Given the description of an element on the screen output the (x, y) to click on. 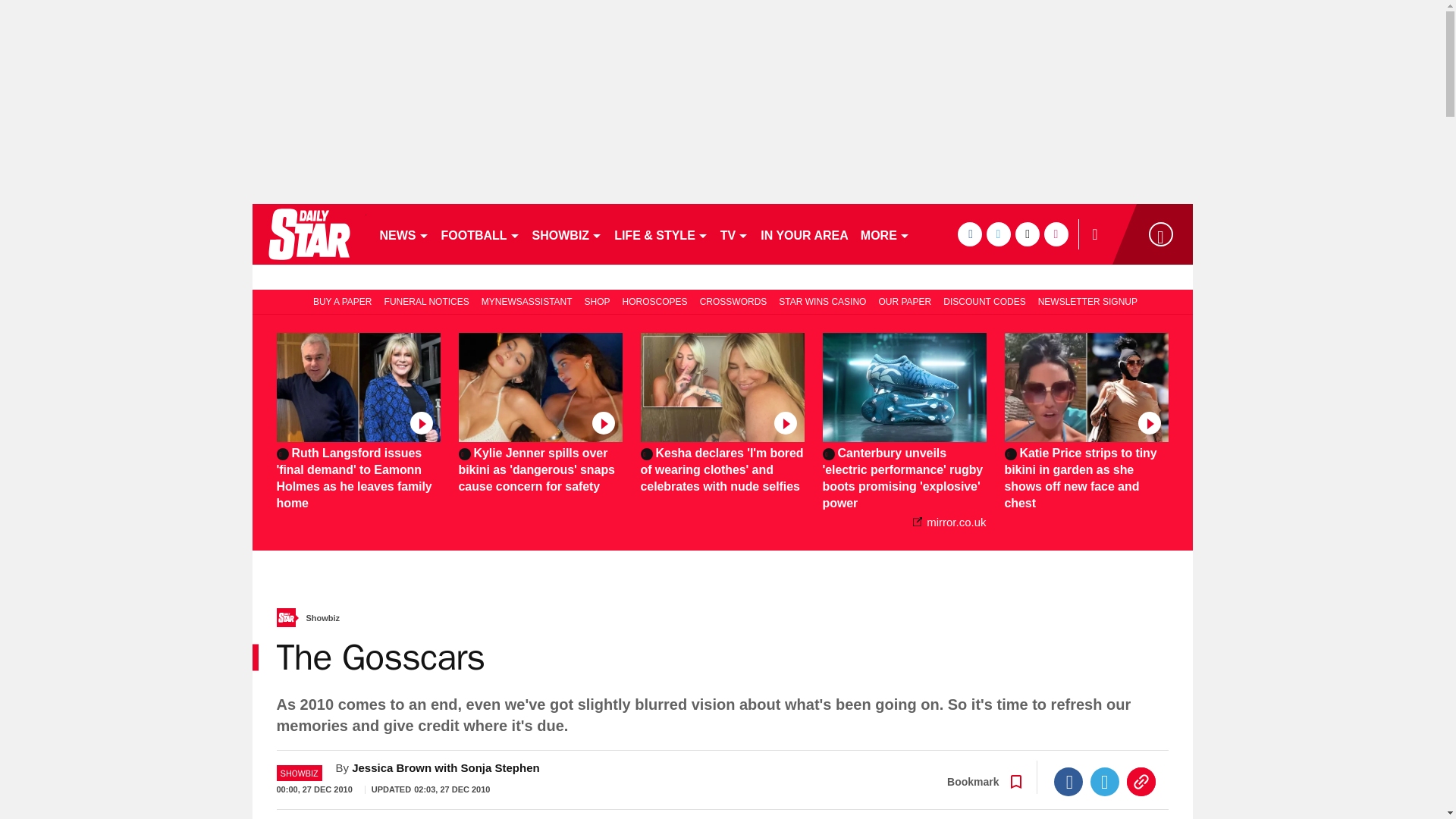
SHOWBIZ (566, 233)
NEWS (402, 233)
facebook (968, 233)
Facebook (1068, 781)
FOOTBALL (480, 233)
Twitter (1104, 781)
tiktok (1026, 233)
dailystar (308, 233)
instagram (1055, 233)
twitter (997, 233)
